Given the description of an element on the screen output the (x, y) to click on. 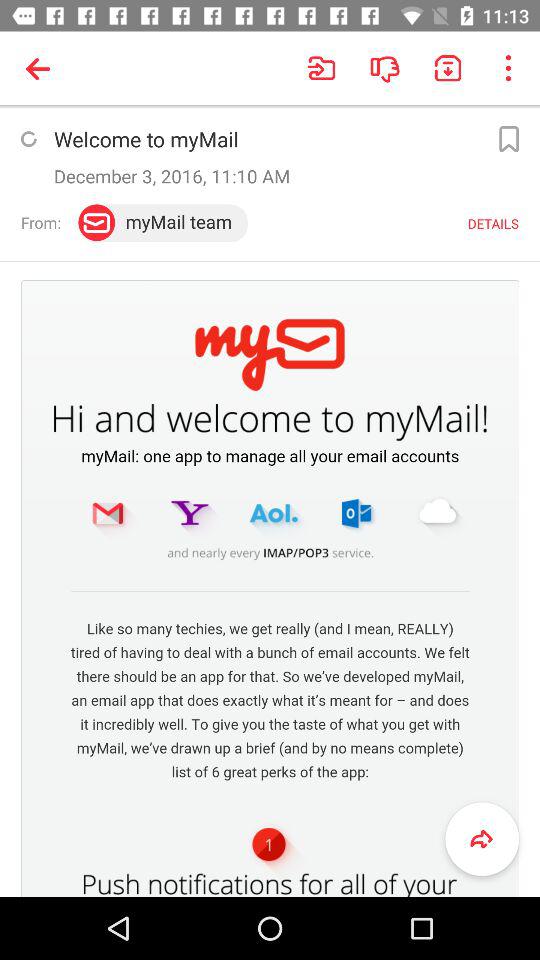
more mail option (508, 139)
